Given the description of an element on the screen output the (x, y) to click on. 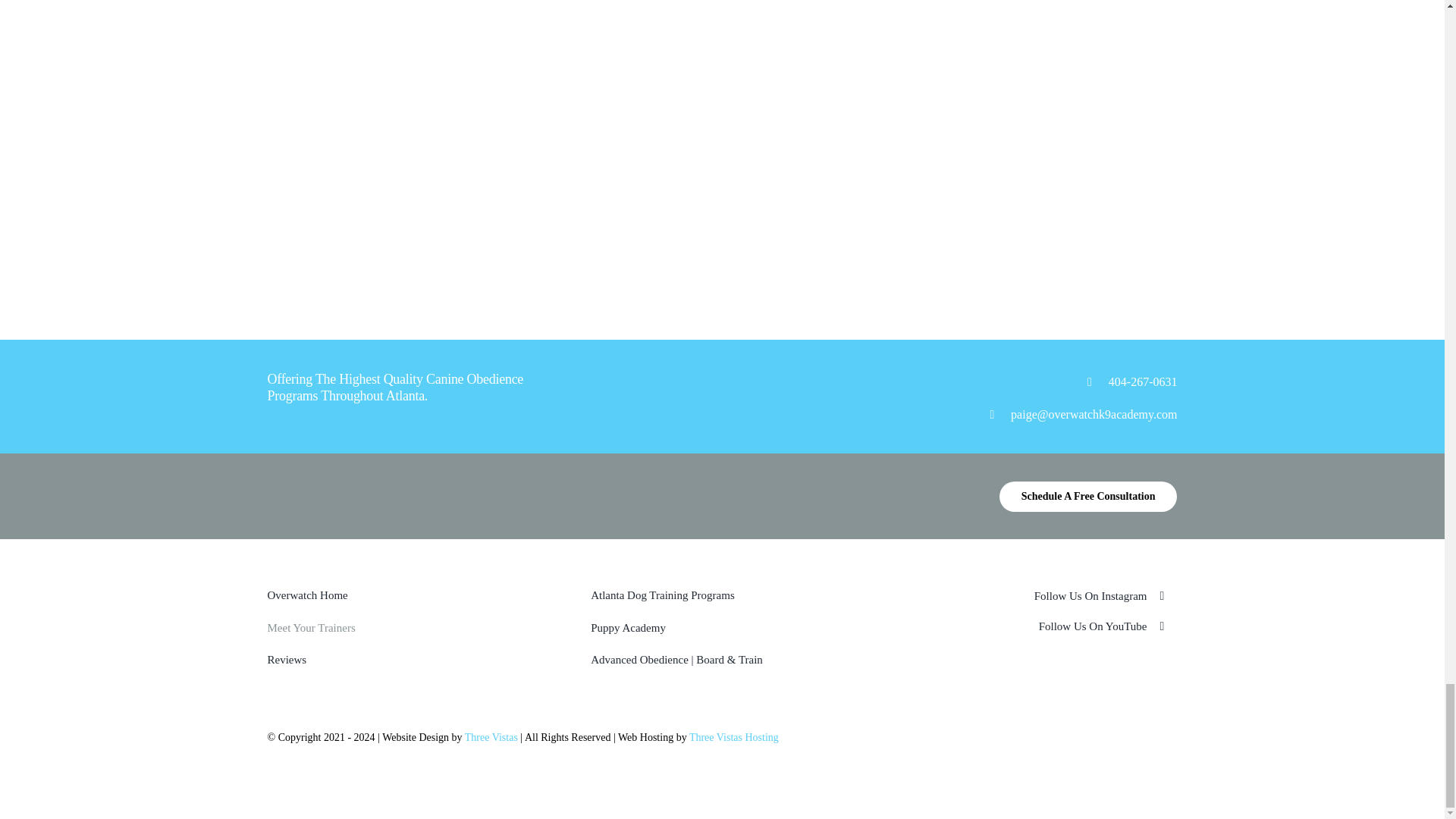
Follow Us On Instagram (1045, 595)
Reviews (397, 659)
Atlanta Dog Training Programs (722, 595)
Three Vistas (491, 737)
Overwatch Home (397, 595)
Puppy Academy (722, 628)
Three Vistas Hosting (733, 737)
Meet Your Trainers (397, 628)
Follow Us On YouTube (1045, 626)
Schedule A Free Consultation (1087, 496)
